Given the description of an element on the screen output the (x, y) to click on. 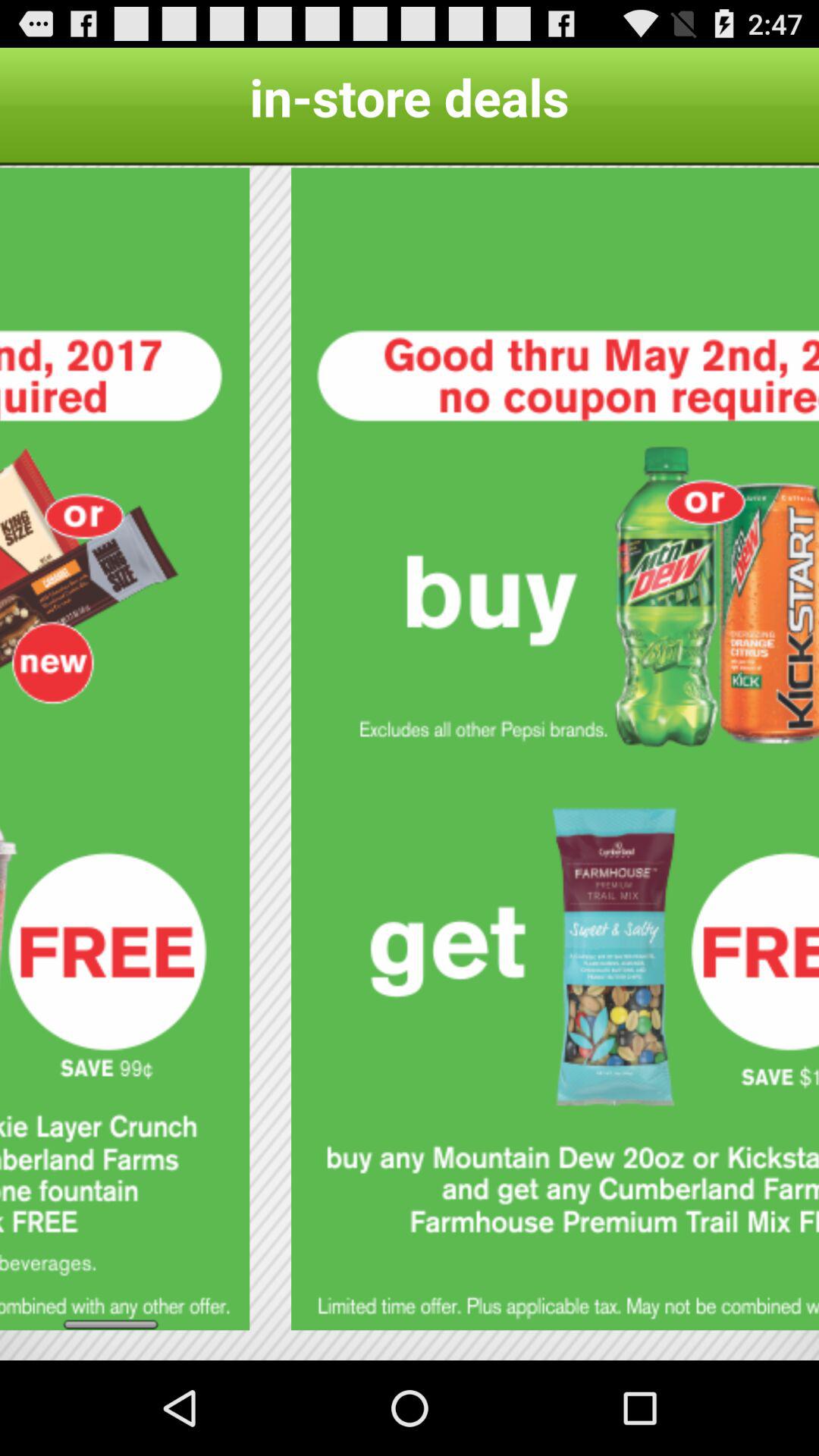
scroll to previous (124, 748)
